Given the description of an element on the screen output the (x, y) to click on. 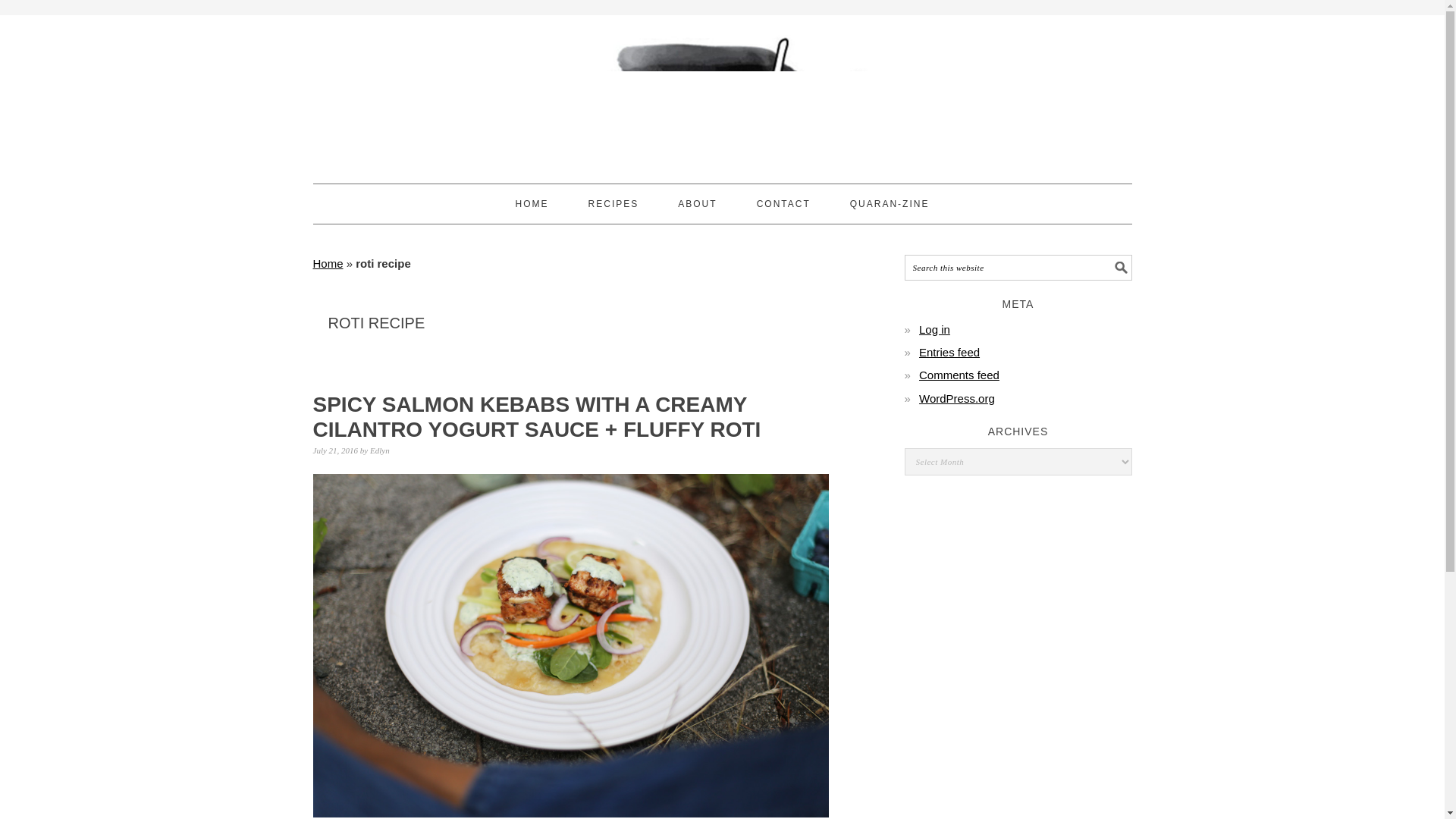
EGD (722, 92)
ABOUT (697, 203)
HOME (531, 203)
CONTACT (783, 203)
Comments feed (958, 374)
Entries feed (948, 351)
WordPress.org (956, 398)
